Given the description of an element on the screen output the (x, y) to click on. 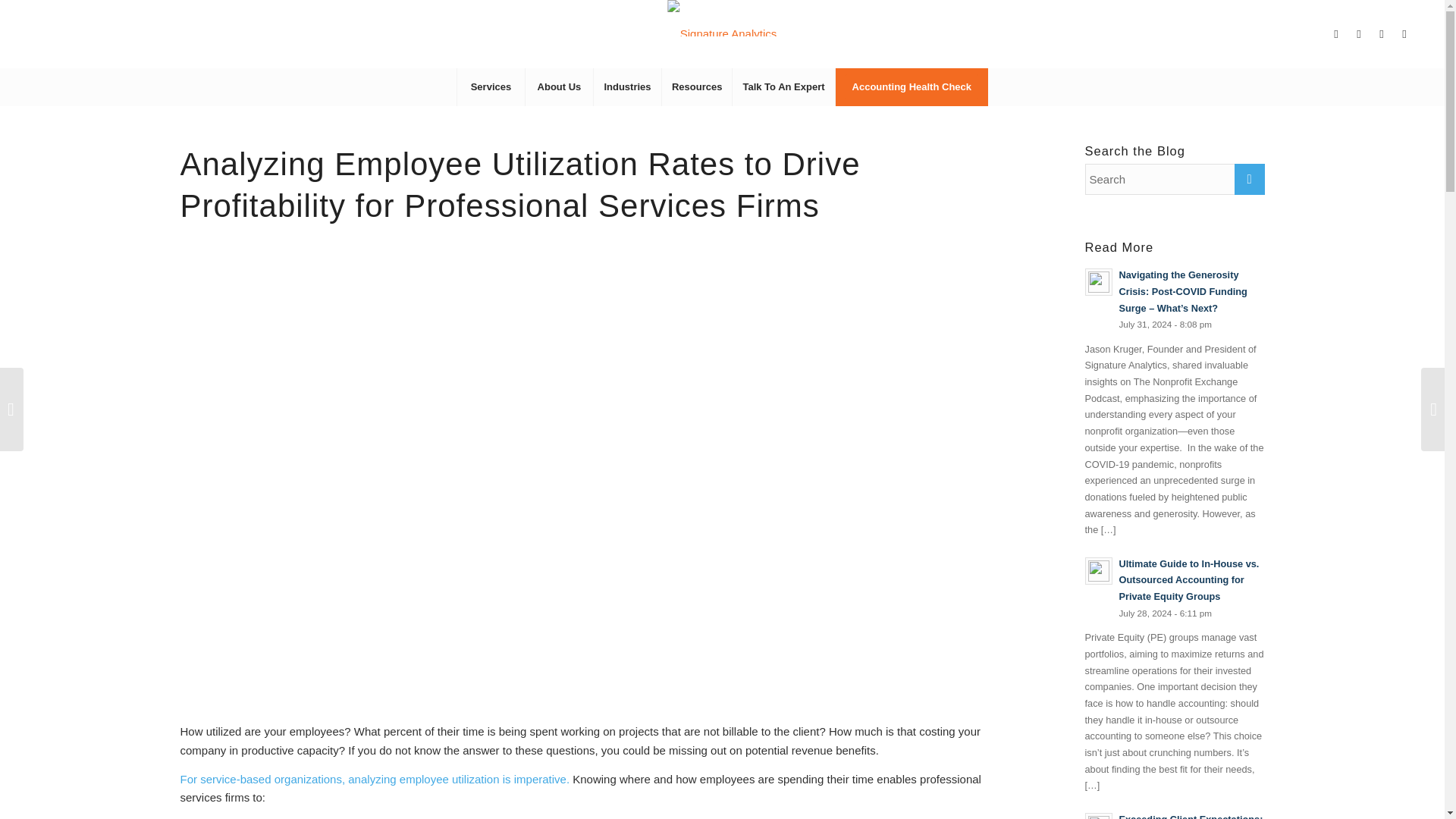
Youtube (1404, 33)
Accounting Health Check (911, 86)
About Us (558, 86)
Instagram (1381, 33)
Signature Analytics Main Logo (722, 18)
Resources (696, 86)
Industries (626, 86)
LinkedIn (1336, 33)
Facebook (1359, 33)
Services (490, 86)
Talk To An Expert (783, 86)
